Given the description of an element on the screen output the (x, y) to click on. 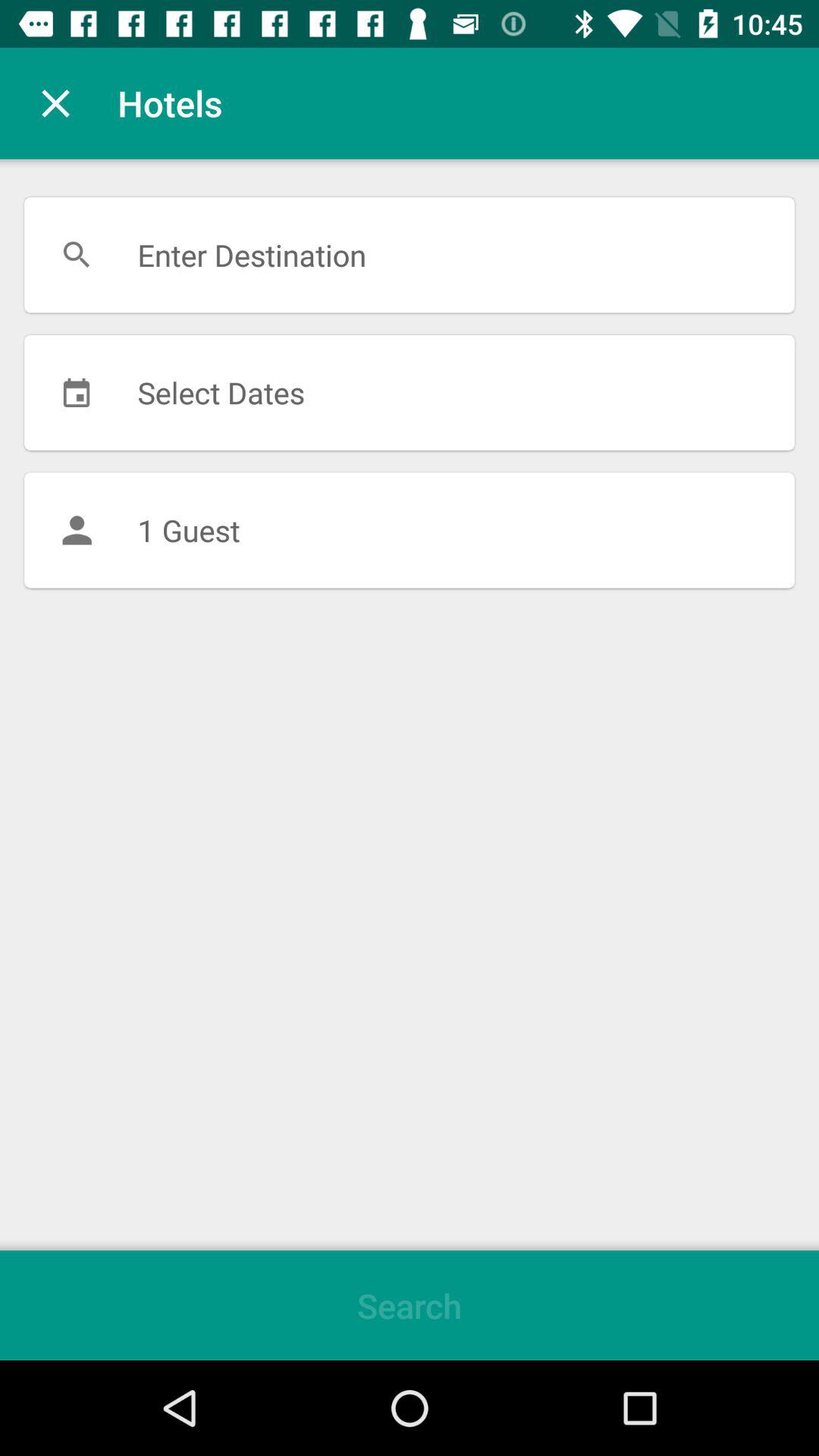
turn off item to the left of hotels icon (55, 103)
